Given the description of an element on the screen output the (x, y) to click on. 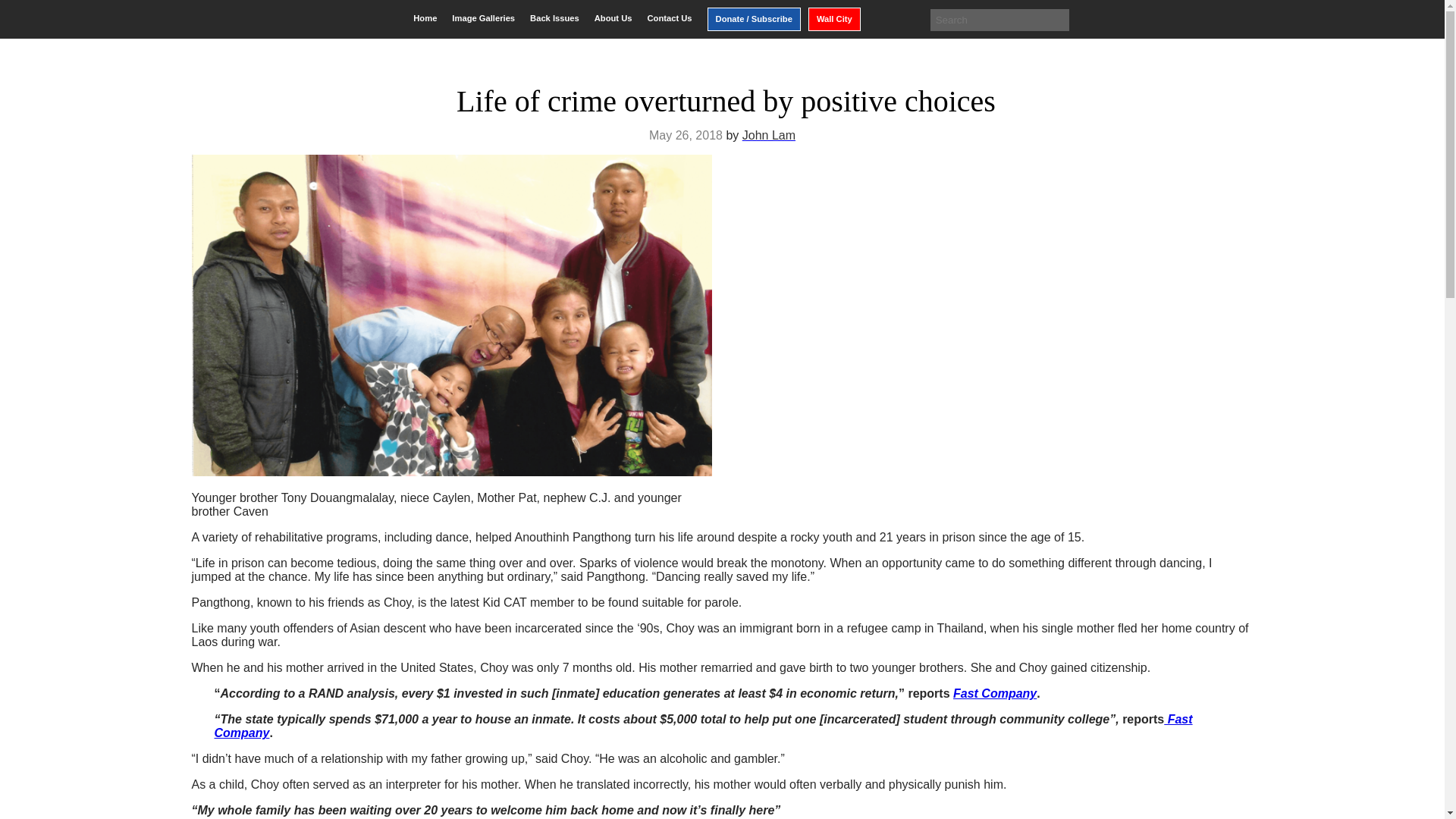
Back Issues (554, 17)
Fast Company (994, 693)
Fast Company (703, 725)
Wall City (833, 18)
Image Galleries (483, 17)
Home (424, 17)
About Us (612, 17)
Contact Us (668, 17)
Search (22, 12)
John Lam (768, 134)
